Given the description of an element on the screen output the (x, y) to click on. 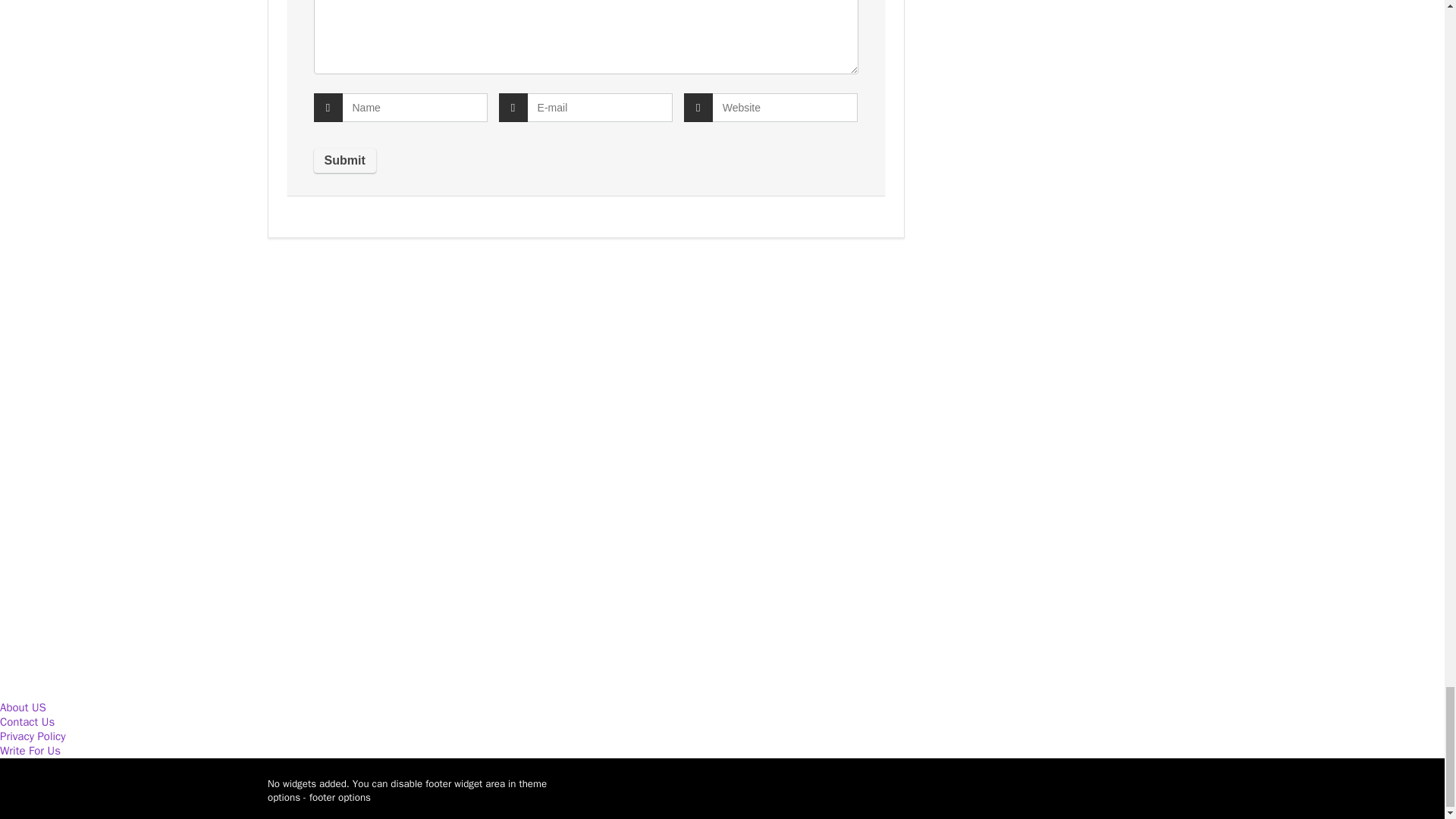
Submit (344, 160)
Submit (344, 160)
